Given the description of an element on the screen output the (x, y) to click on. 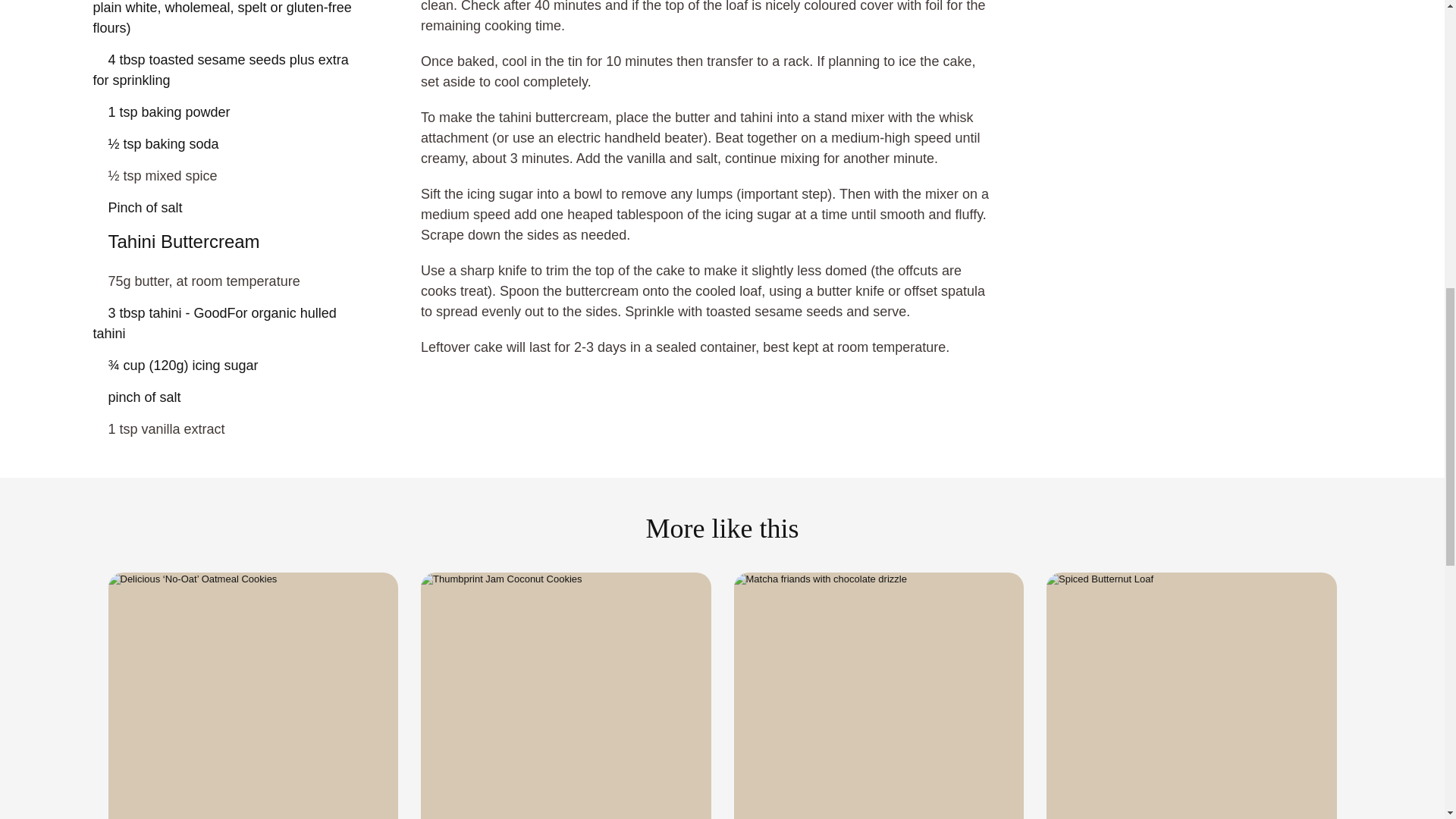
baking powder (161, 100)
organic icing sugar (175, 353)
organic hulled tahini (230, 311)
salt himalayan pink (137, 196)
organic sesame seeds (230, 58)
GoodFor baking flours (230, 13)
baking soda (155, 132)
